Given the description of an element on the screen output the (x, y) to click on. 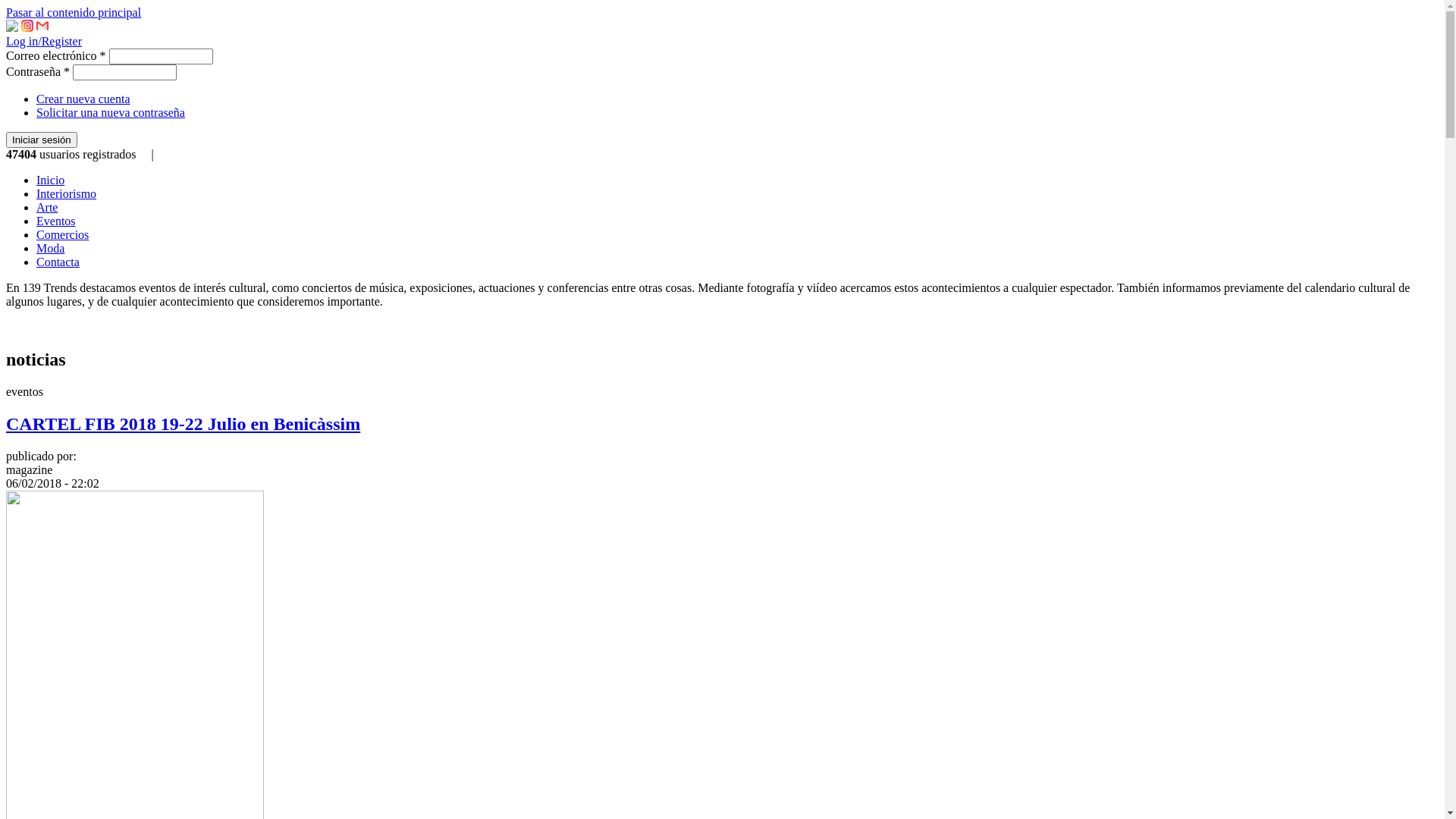
Log in/Register Element type: text (43, 40)
Pasar al contenido principal Element type: text (73, 12)
Arte Element type: text (46, 206)
Comercios Element type: text (62, 234)
Interiorismo Element type: text (66, 193)
Inicio Element type: text (50, 179)
Eventos Element type: text (55, 220)
Crear nueva cuenta Element type: text (82, 98)
Contacta Element type: text (57, 261)
Moda Element type: text (50, 247)
